Given the description of an element on the screen output the (x, y) to click on. 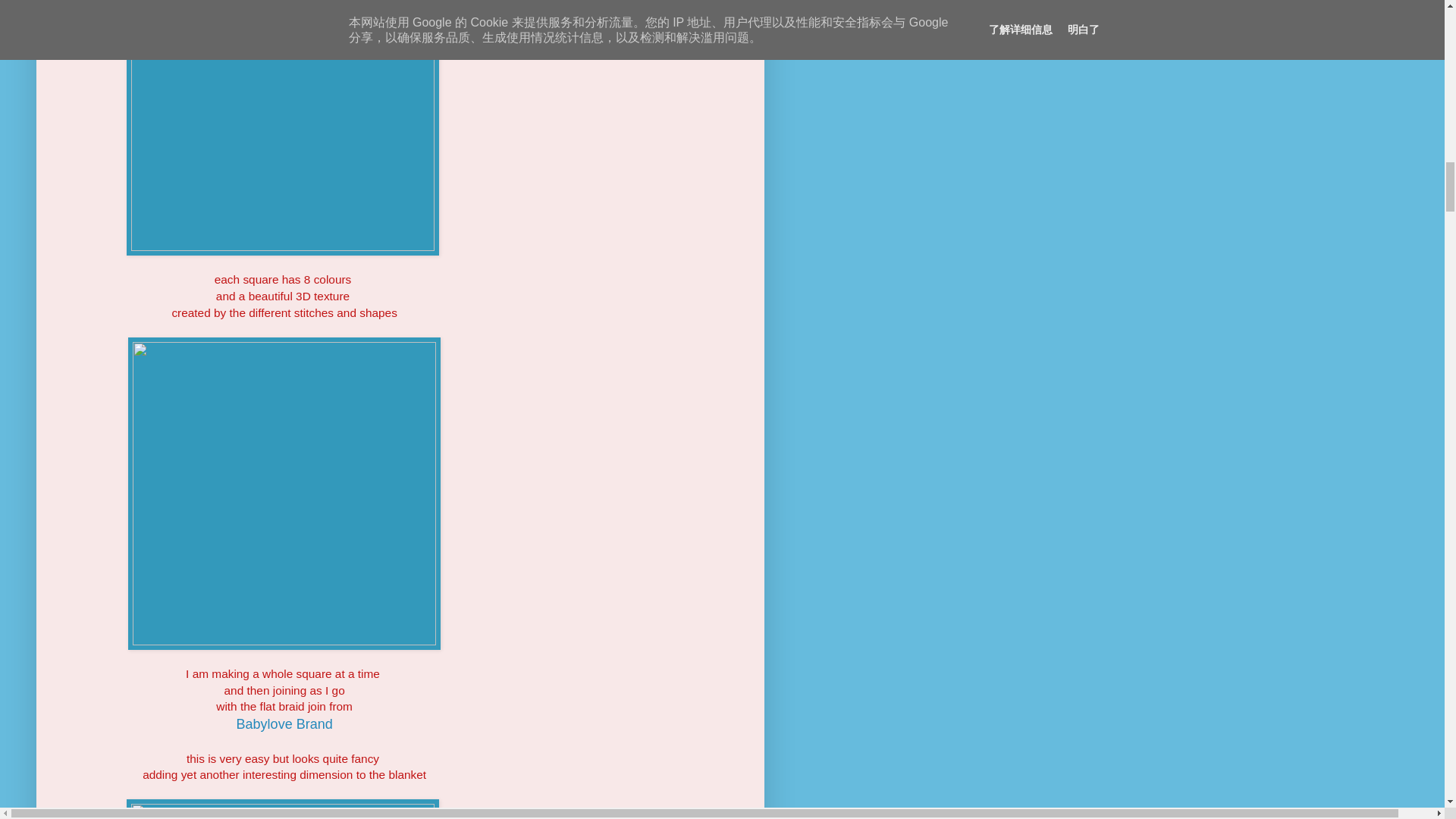
Babylove Brand (284, 724)
